Given the description of an element on the screen output the (x, y) to click on. 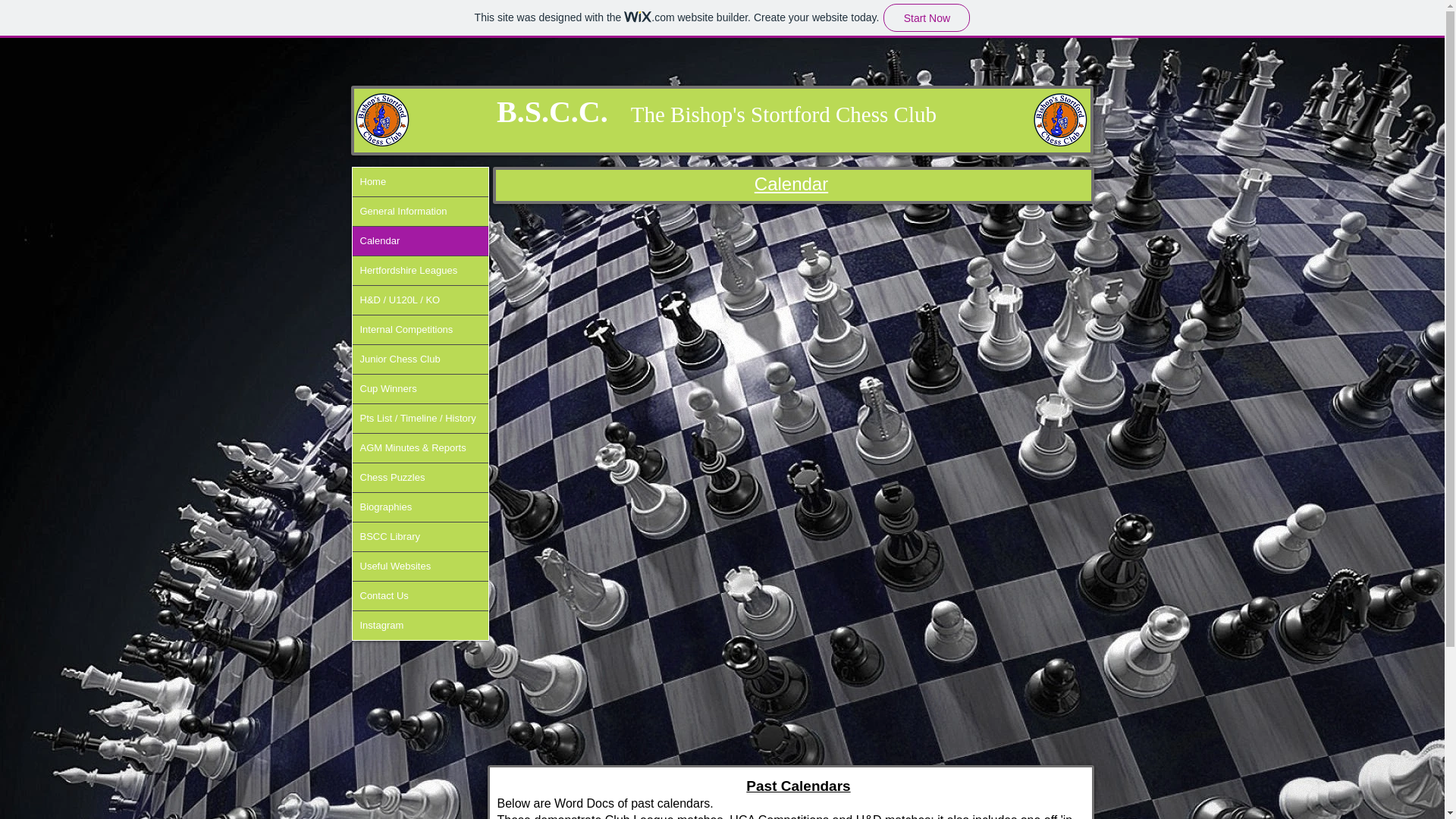
BSCC Library (419, 536)
Internal Competitions (419, 329)
Biographies (419, 507)
Hertfordshire Leagues (419, 270)
Calendar (419, 240)
Cup Winners (419, 388)
Home (419, 181)
Useful Websites (419, 566)
Junior Chess Club (419, 358)
Contact Us (419, 595)
